Given the description of an element on the screen output the (x, y) to click on. 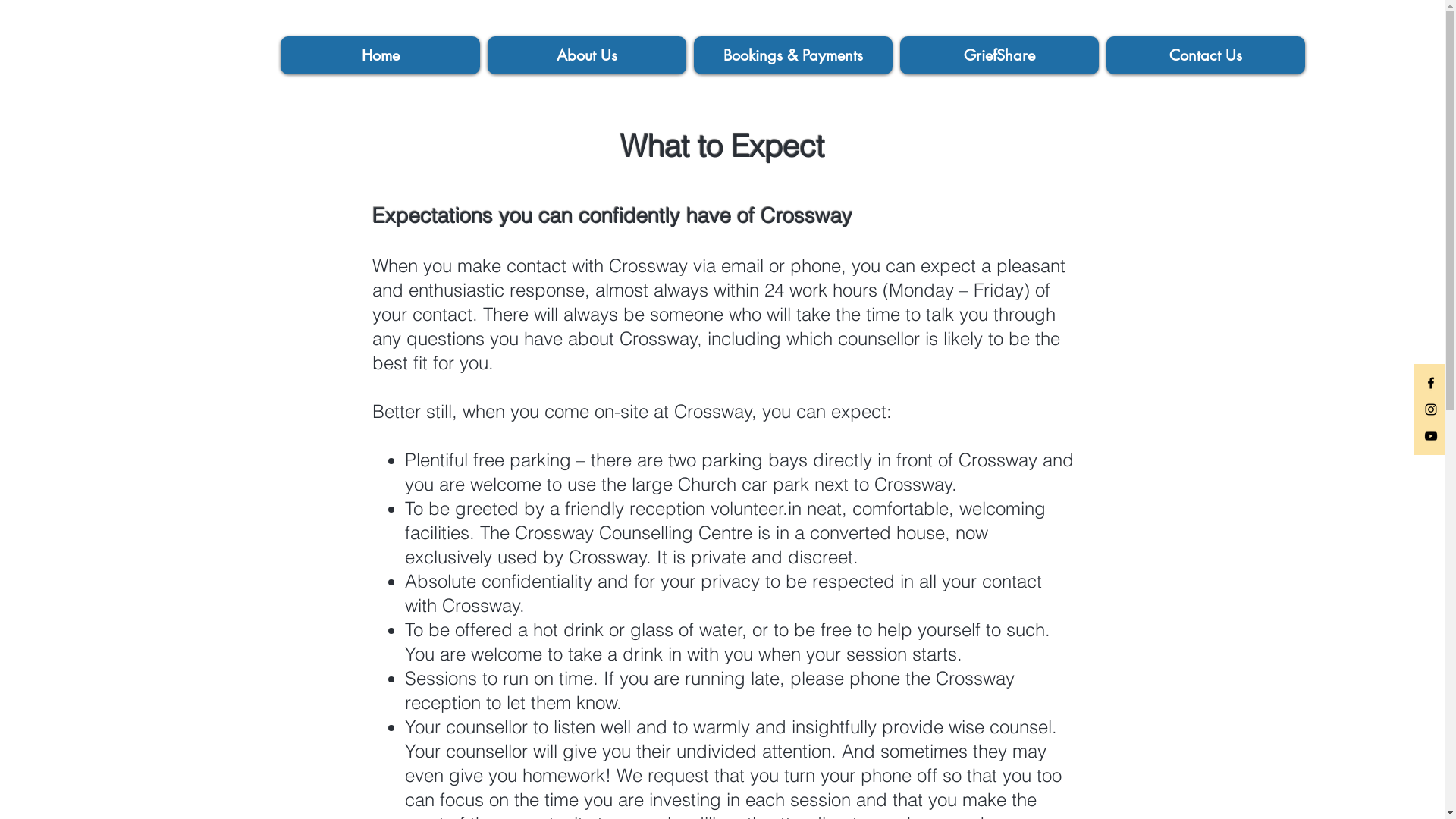
Contact Us Element type: text (1205, 55)
Home Element type: text (380, 55)
GriefShare Element type: text (999, 55)
Bookings & Payments Element type: text (792, 55)
About Us Element type: text (586, 55)
